Given the description of an element on the screen output the (x, y) to click on. 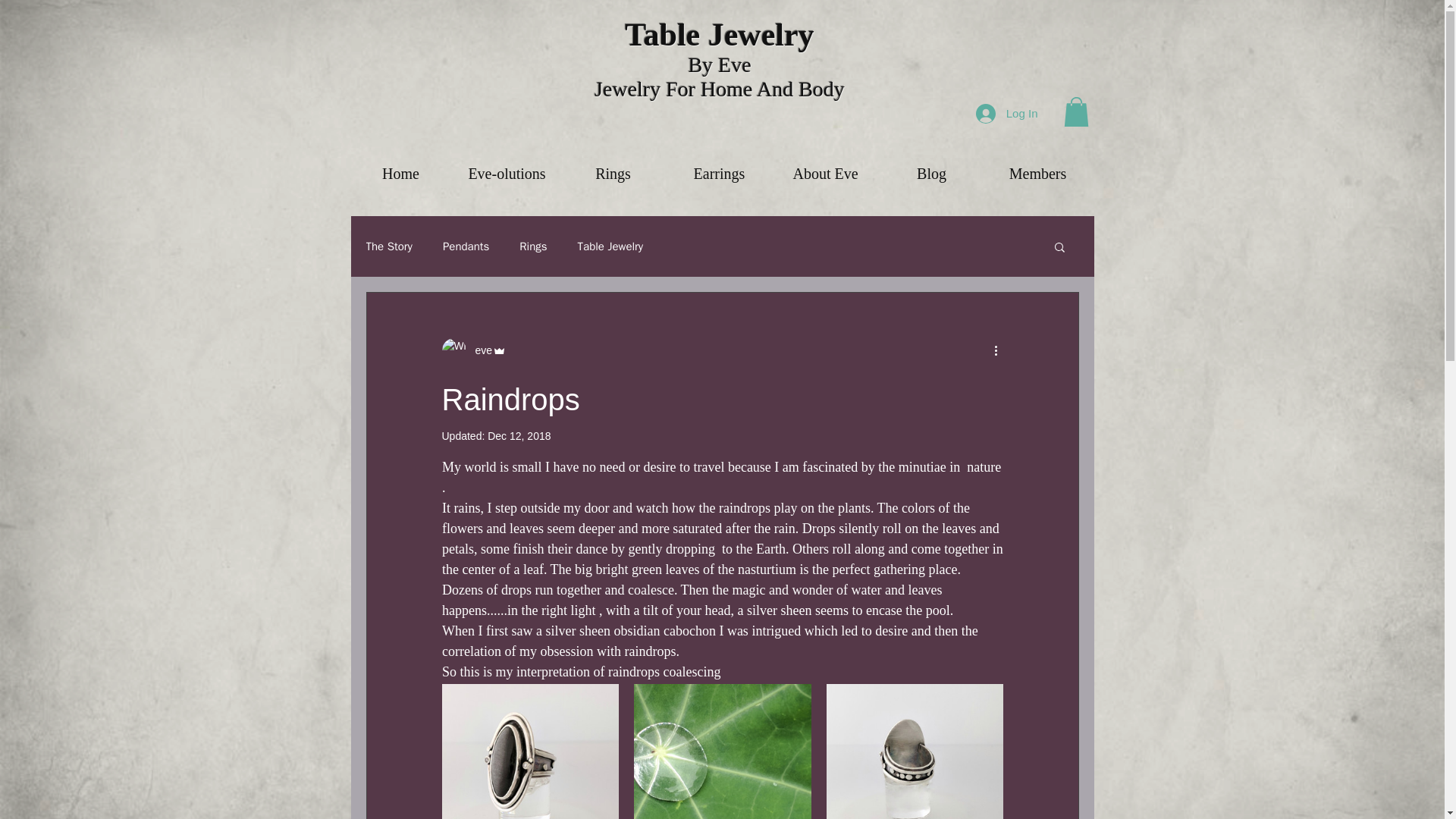
Rings (612, 166)
Table Jewelry (610, 246)
Earrings (718, 166)
Dec 12, 2018 (518, 435)
Rings (533, 246)
Eve-olutions (505, 166)
Log In (1006, 112)
Home (399, 166)
eve (478, 350)
Pendants (465, 246)
The Story (388, 246)
Members (1037, 166)
Blog (930, 166)
About Eve (824, 166)
eve (473, 350)
